Given the description of an element on the screen output the (x, y) to click on. 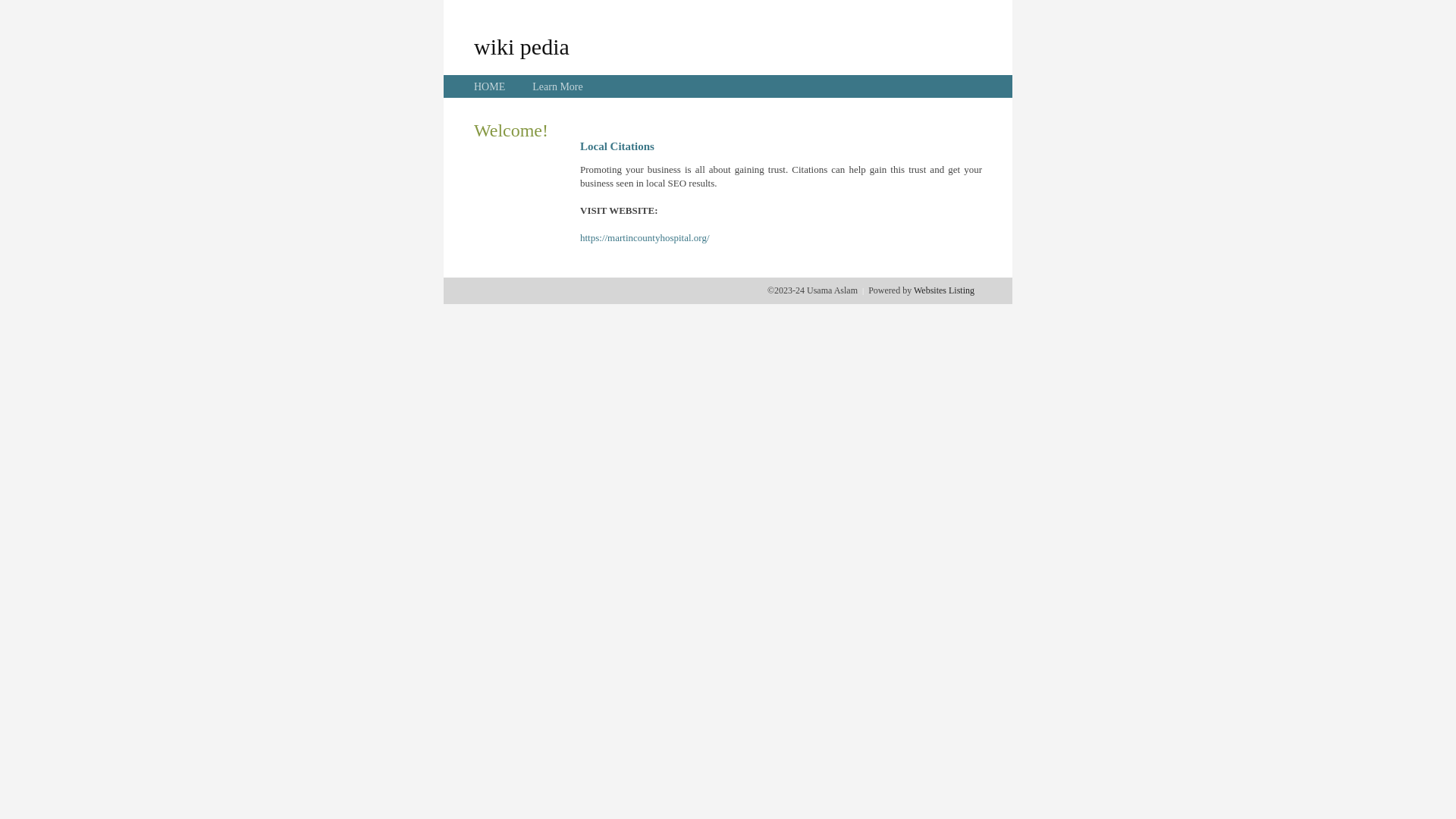
Learn More Element type: text (557, 86)
wiki pedia Element type: text (521, 46)
https://martincountyhospital.org/ Element type: text (644, 237)
Websites Listing Element type: text (943, 290)
HOME Element type: text (489, 86)
